Given the description of an element on the screen output the (x, y) to click on. 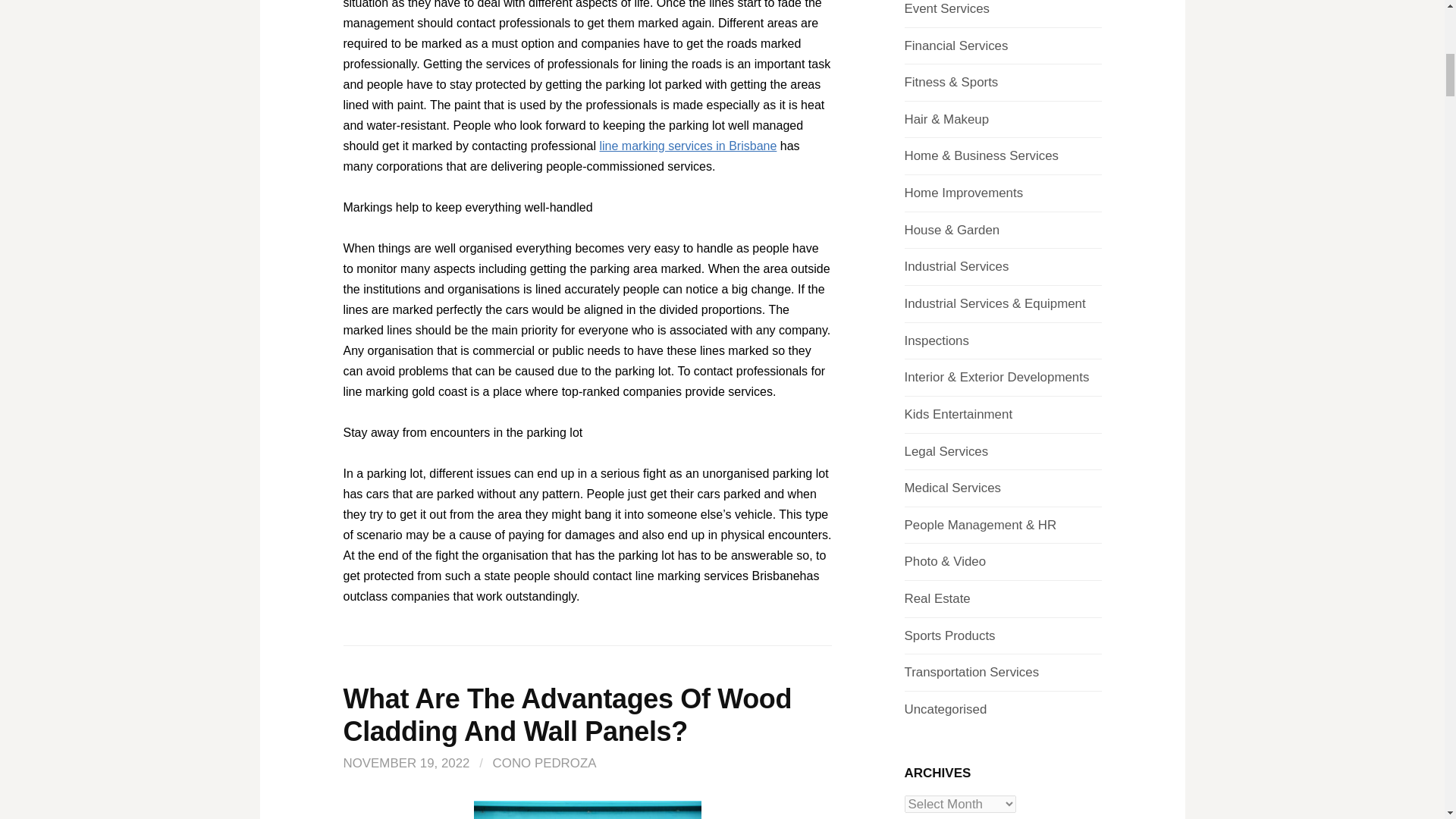
line marking services in Brisbane (687, 145)
2.jpg (586, 809)
line marking services in Brisbane (687, 145)
What Are The Advantages Of Wood Cladding And Wall Panels? (567, 714)
CONO PEDROZA (544, 762)
NOVEMBER 19, 2022 (405, 762)
